Given the description of an element on the screen output the (x, y) to click on. 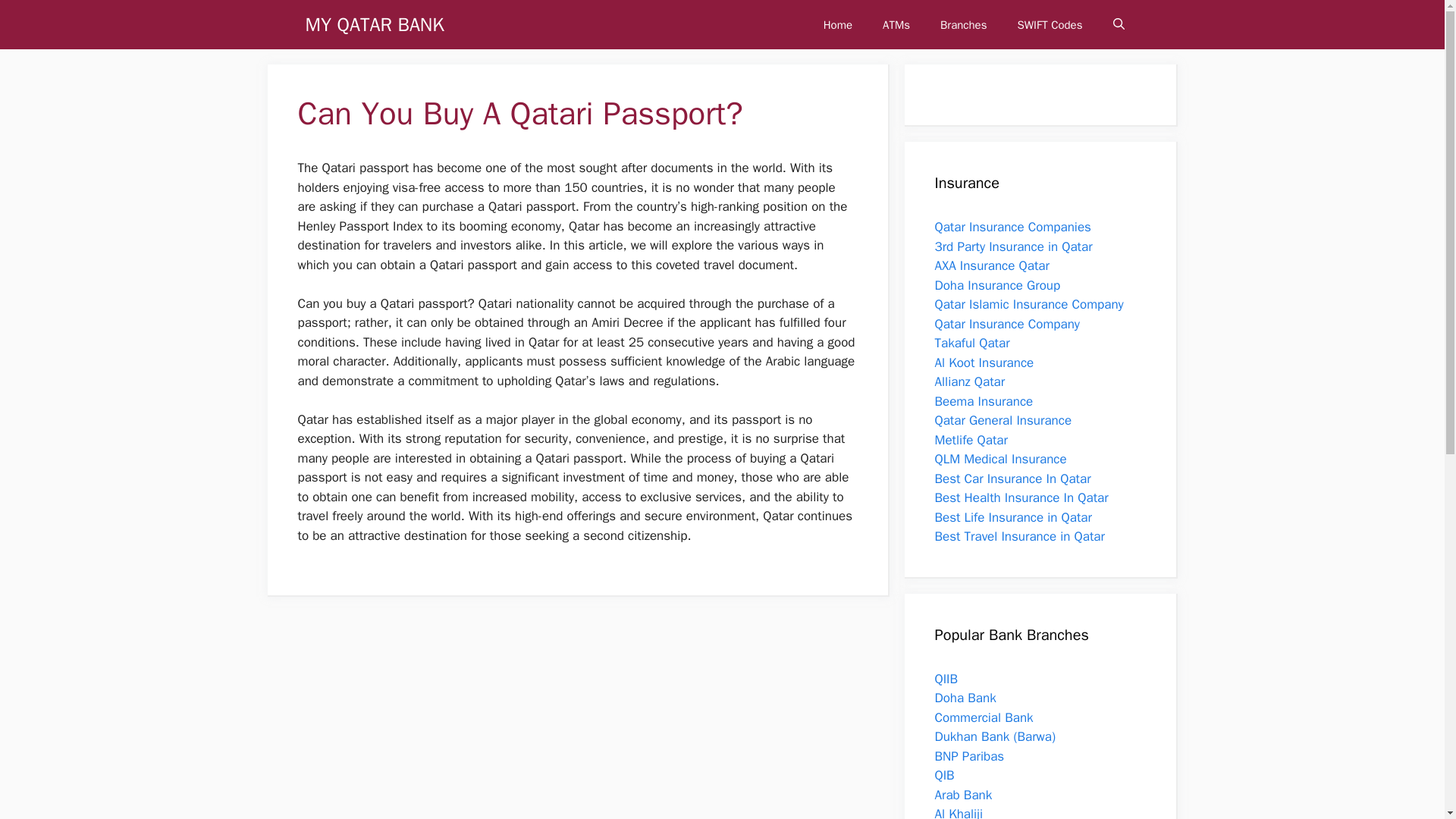
Branches (962, 23)
Doha Bank (964, 697)
QIIB (946, 678)
AXA Insurance Qatar (991, 265)
Doha Insurance Group (996, 285)
Best Life Insurance in Qatar (1012, 517)
Commercial Bank (983, 717)
BNP Paribas (969, 755)
Arab Bank (962, 795)
Al Koot Insurance (983, 362)
